Given the description of an element on the screen output the (x, y) to click on. 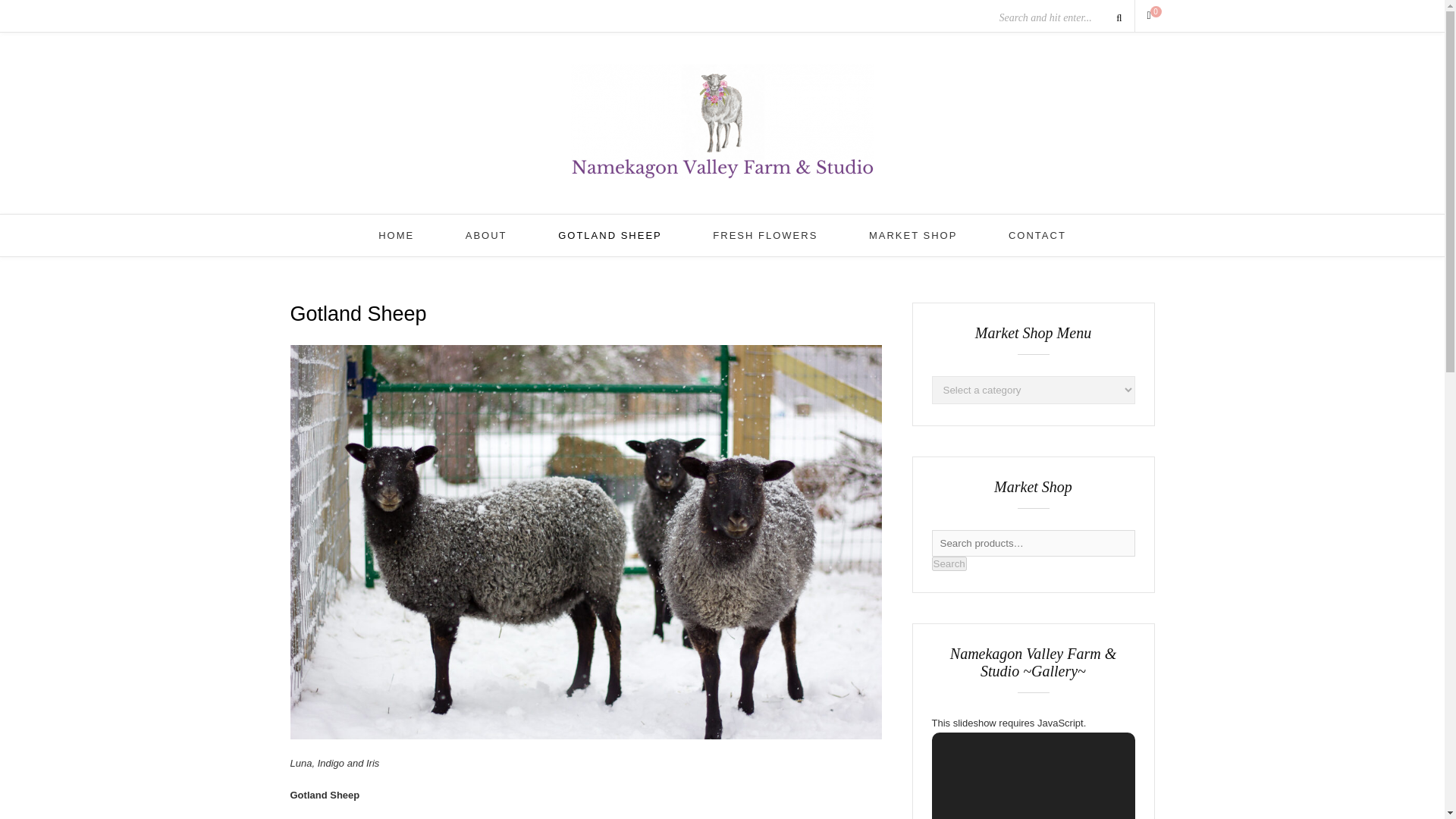
Search (948, 563)
CONTACT (1037, 235)
FRESH FLOWERS (764, 235)
ABOUT (485, 235)
GOTLAND SHEEP (609, 235)
MARKET SHOP (912, 235)
